Given the description of an element on the screen output the (x, y) to click on. 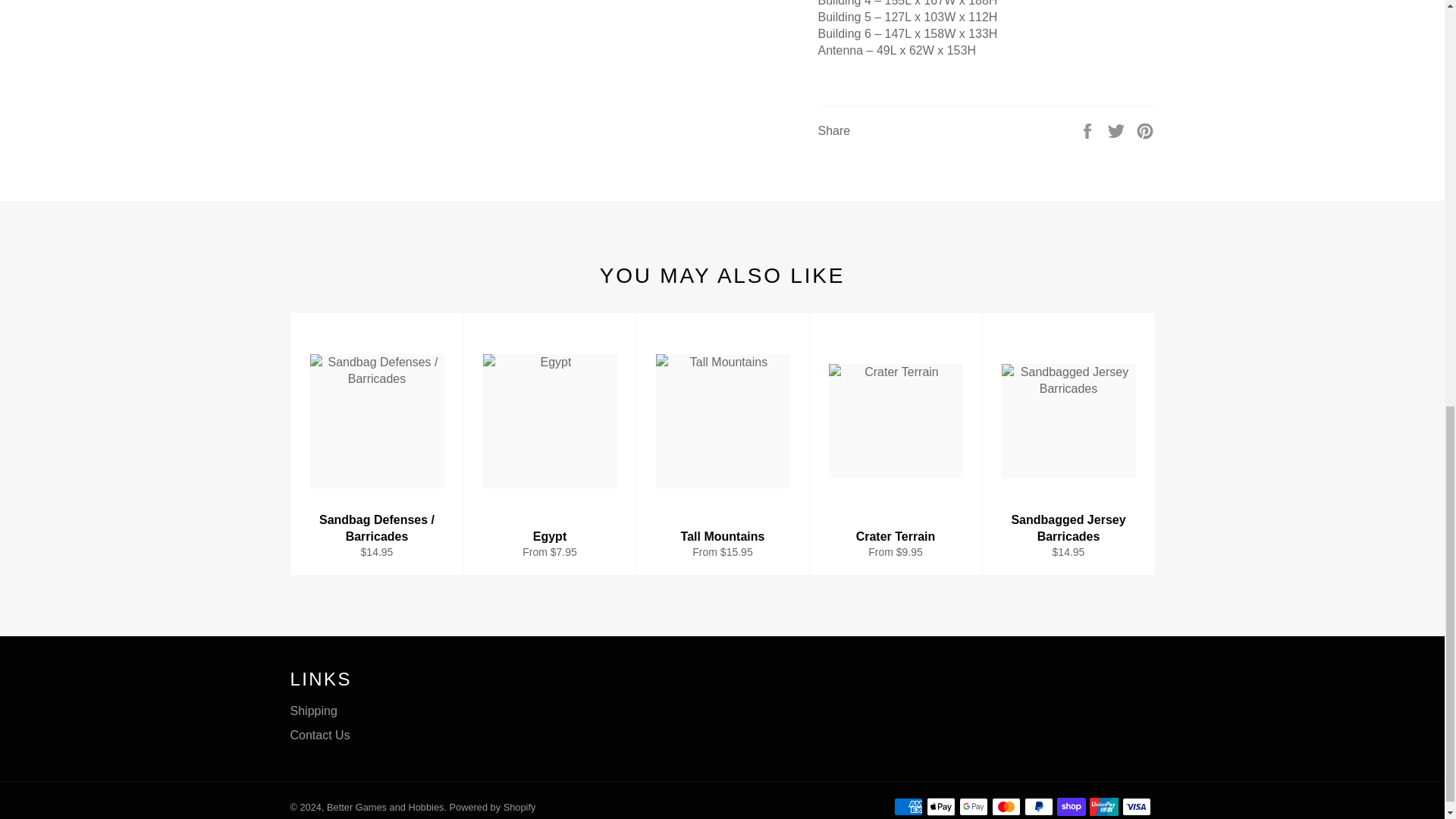
Tweet on Twitter (1117, 129)
Pin on Pinterest (1144, 129)
Share on Facebook (1088, 129)
